Given the description of an element on the screen output the (x, y) to click on. 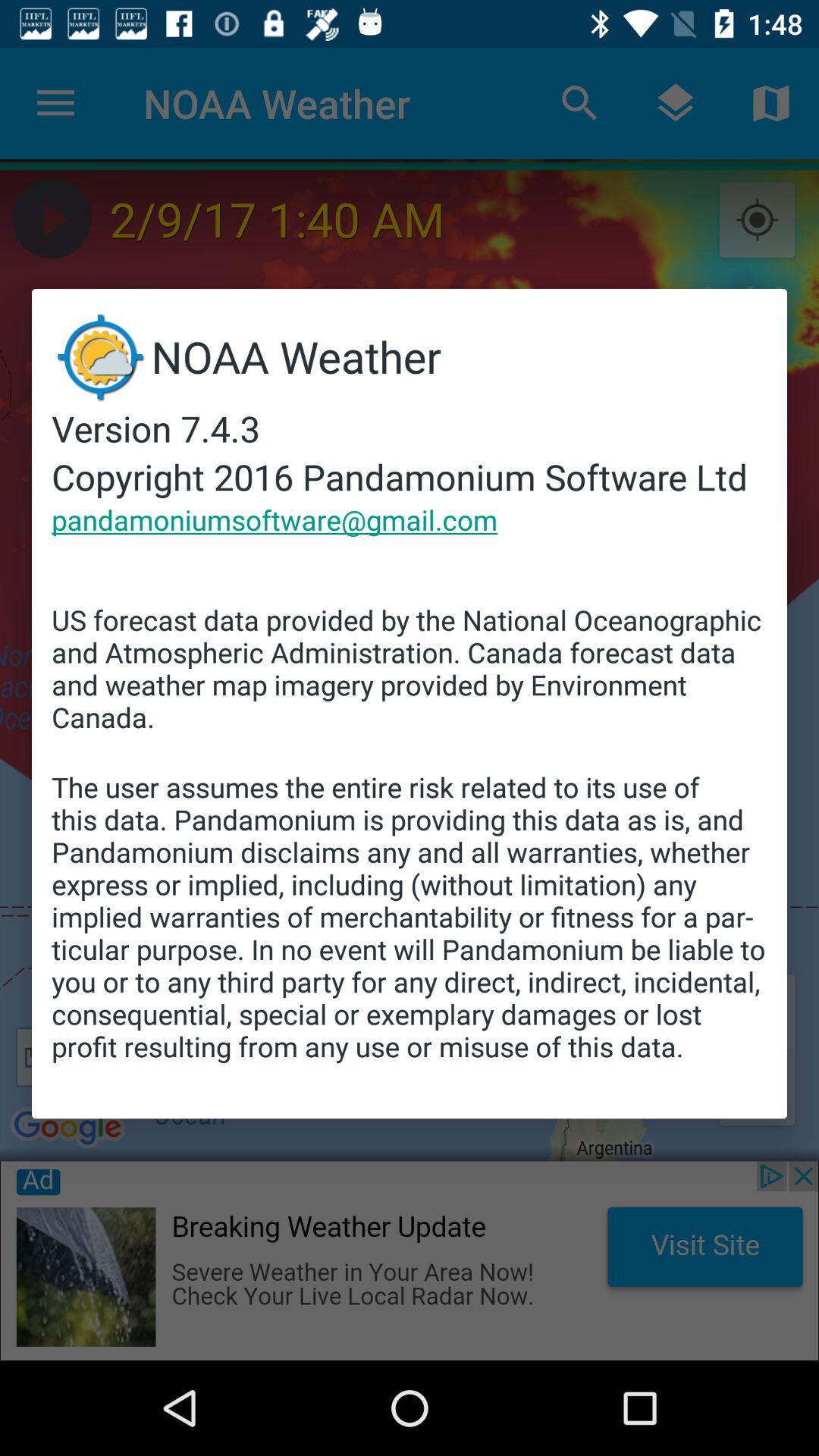
scroll to pandamoniumsoftware@gmail.com icon (274, 519)
